Given the description of an element on the screen output the (x, y) to click on. 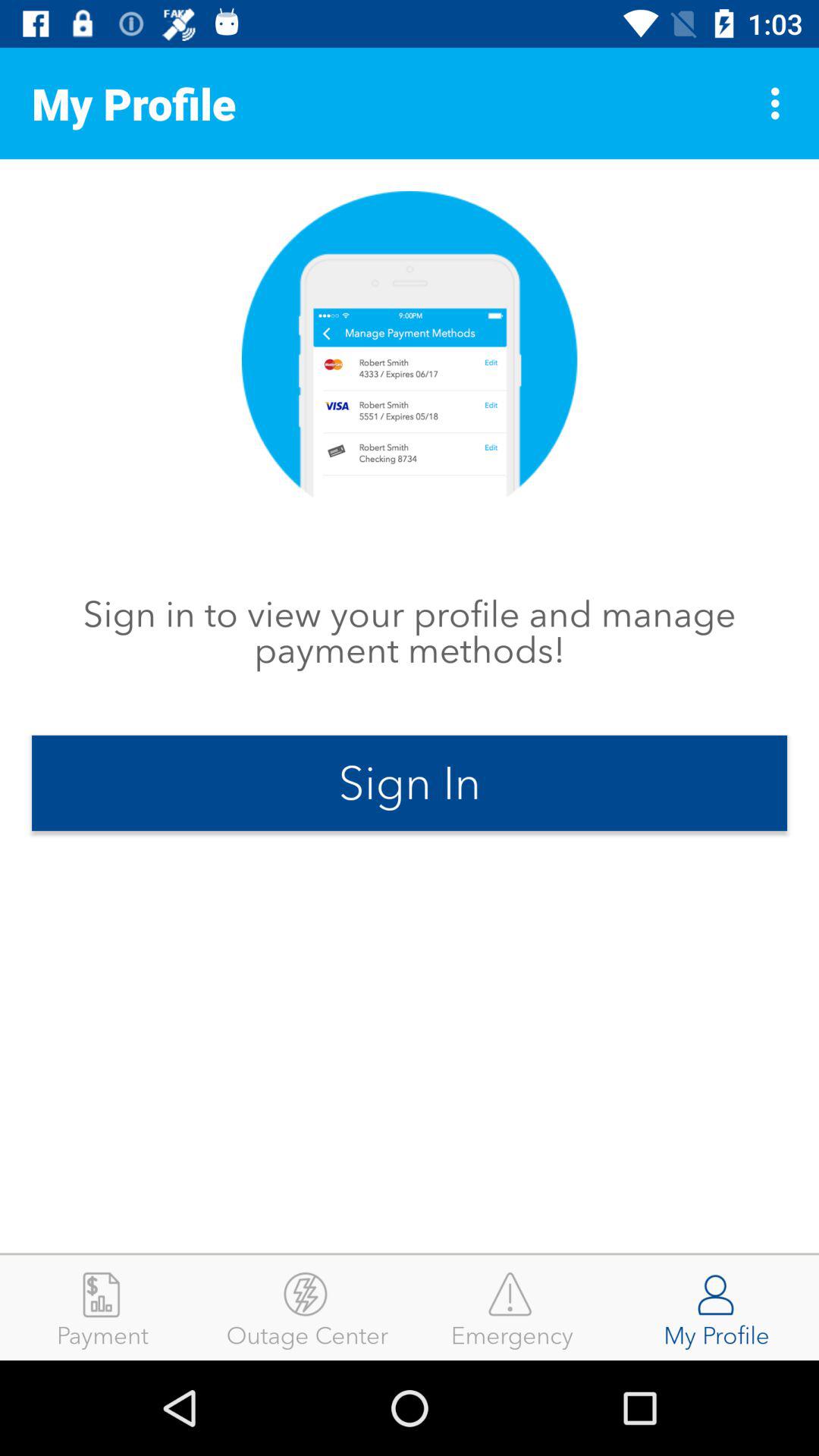
turn off outage center icon (306, 1307)
